Given the description of an element on the screen output the (x, y) to click on. 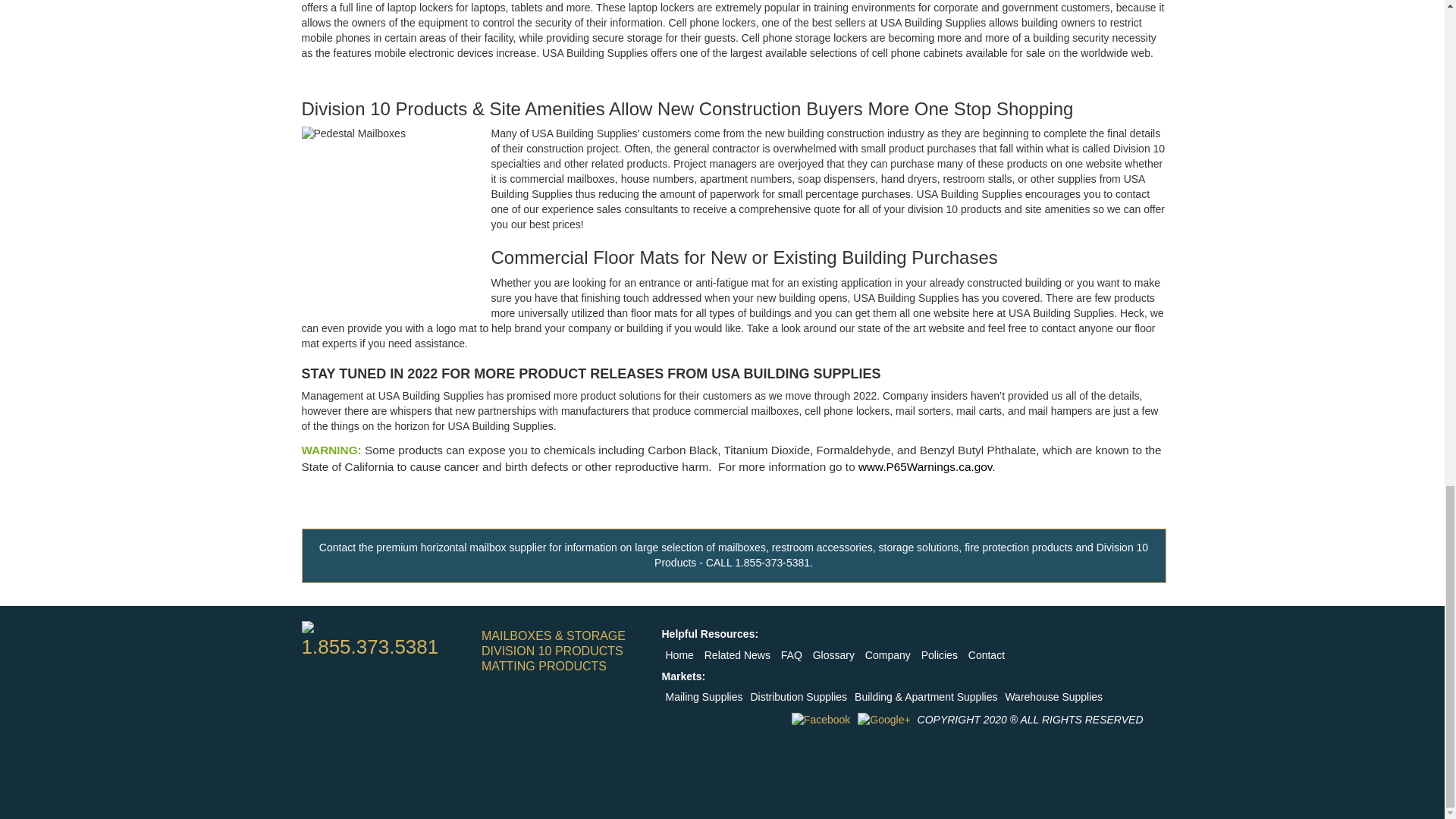
Pedestal Mailboxes for Sale Online (396, 221)
